Given the description of an element on the screen output the (x, y) to click on. 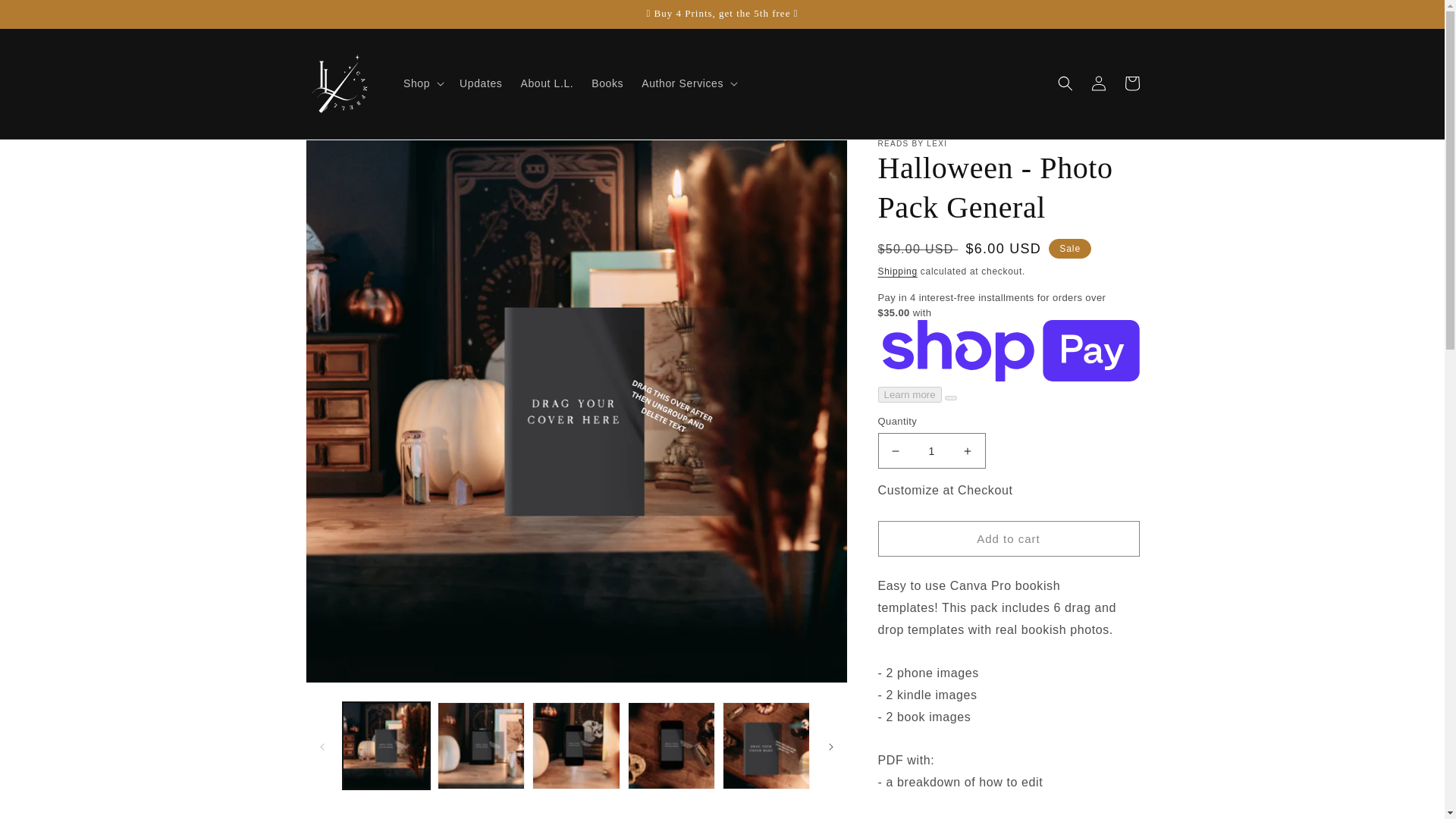
1 (931, 450)
Cart (1131, 82)
Skip to content (45, 17)
Books (606, 83)
Updates (480, 83)
Log in (1098, 82)
About L.L. (546, 83)
